Given the description of an element on the screen output the (x, y) to click on. 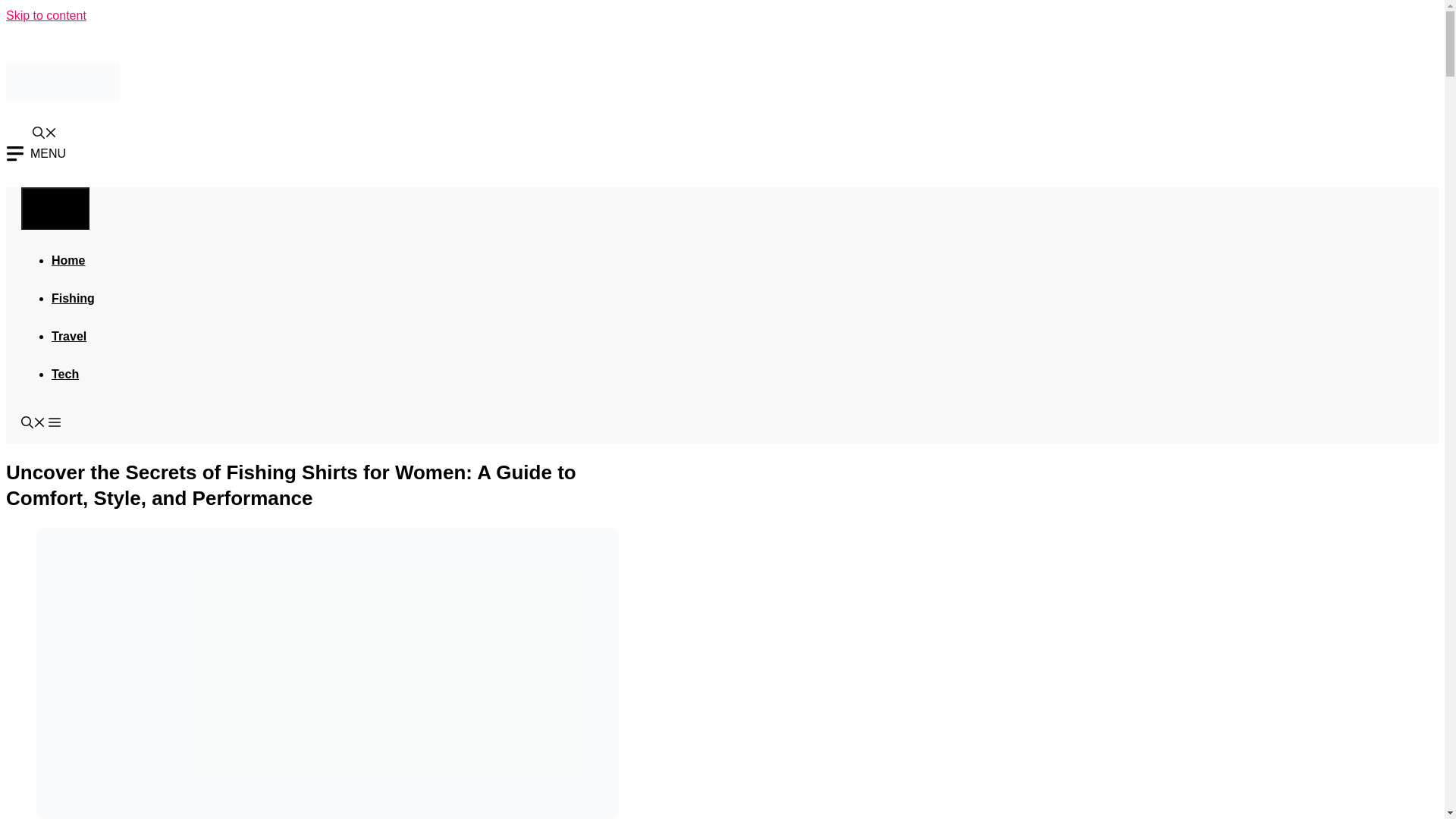
Skip to content (45, 15)
Skip to content (45, 15)
Tech (64, 373)
Home (67, 259)
Travel (67, 335)
Fishing (72, 297)
MENU (35, 153)
Menu (54, 207)
